Given the description of an element on the screen output the (x, y) to click on. 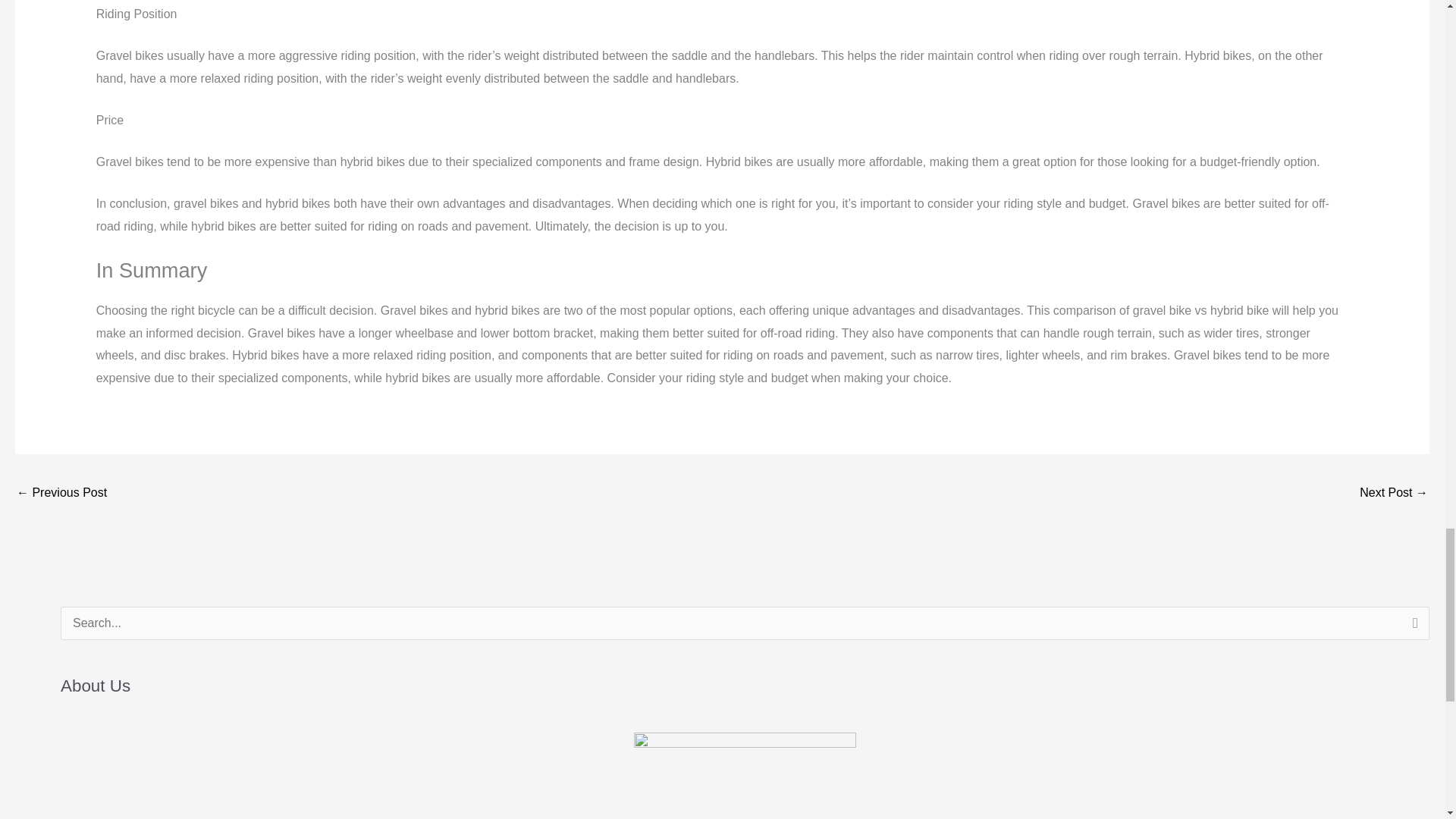
Search (1411, 627)
Search (1411, 627)
How to Find the Perfect Mountain Bike Seat Height (61, 493)
Search (1411, 627)
